Given the description of an element on the screen output the (x, y) to click on. 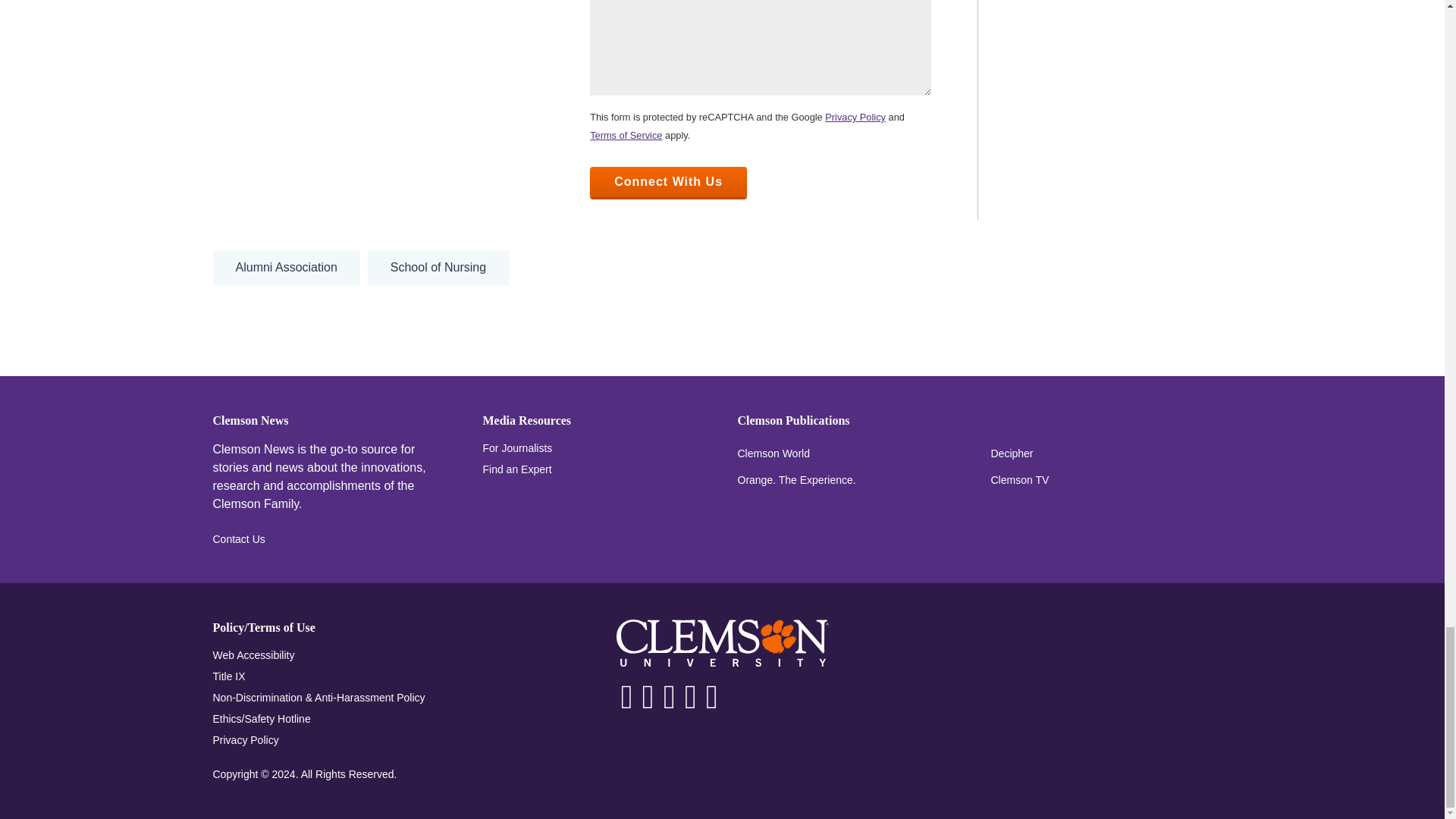
Clemson University (721, 642)
Connect With Us (667, 182)
